Given the description of an element on the screen output the (x, y) to click on. 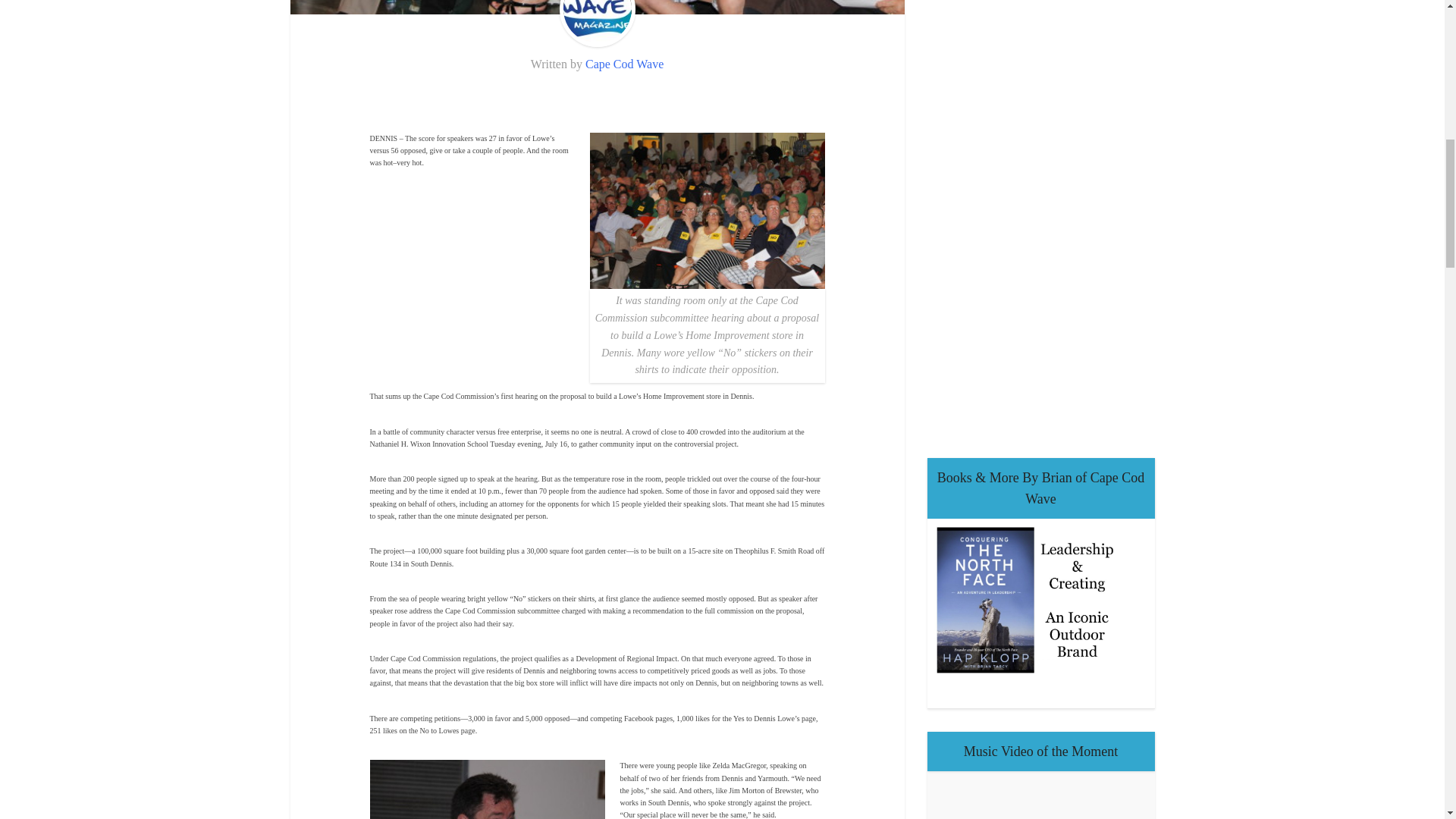
Cape Cod Wave (624, 63)
